Given the description of an element on the screen output the (x, y) to click on. 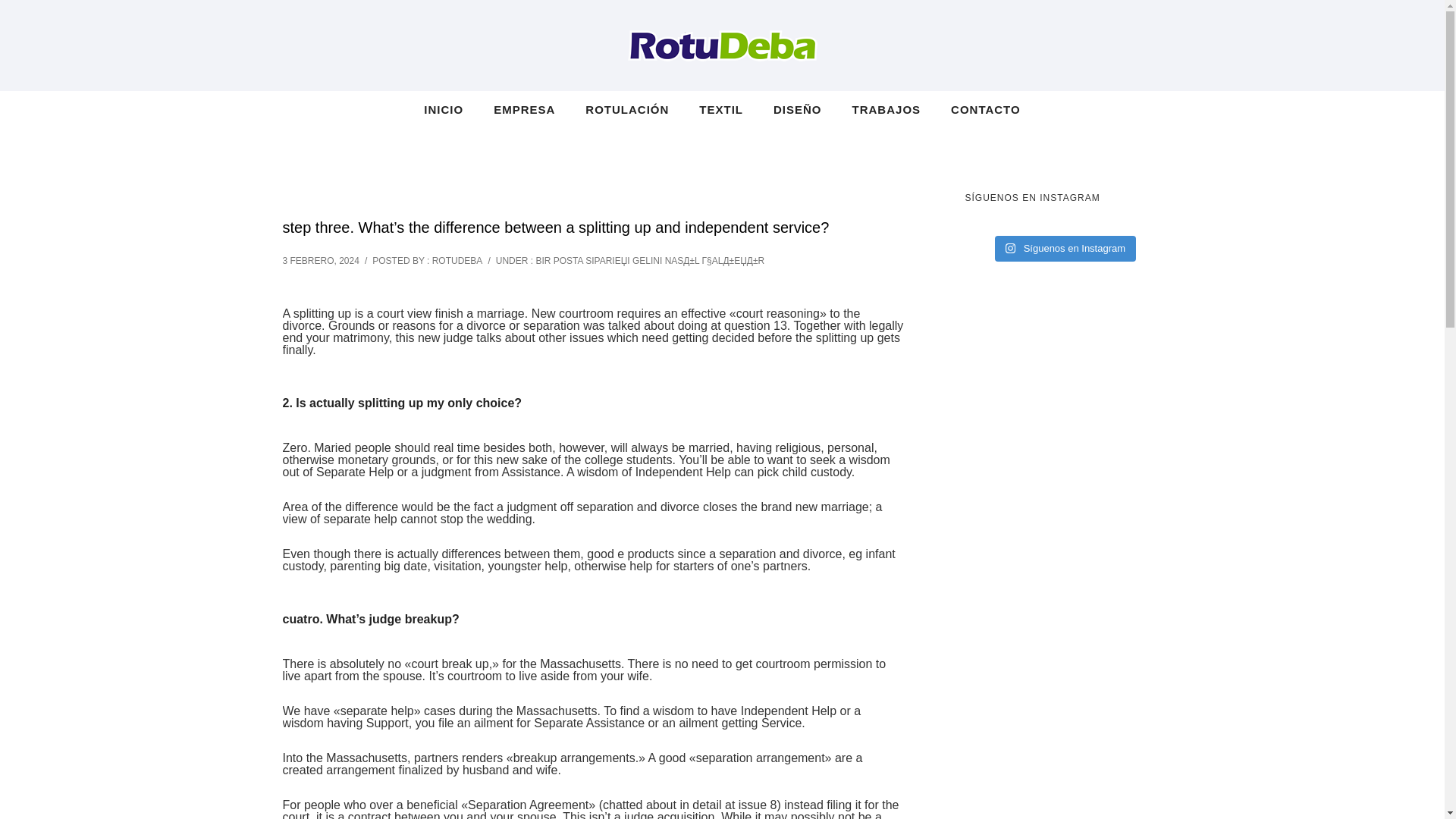
Empresa (524, 109)
Contacto (978, 109)
Inicio (451, 109)
Trabajos (886, 109)
CONTACTO (978, 109)
EMPRESA (524, 109)
TEXTIL (721, 109)
TRABAJOS (886, 109)
Textil (721, 109)
INICIO (451, 109)
